Given the description of an element on the screen output the (x, y) to click on. 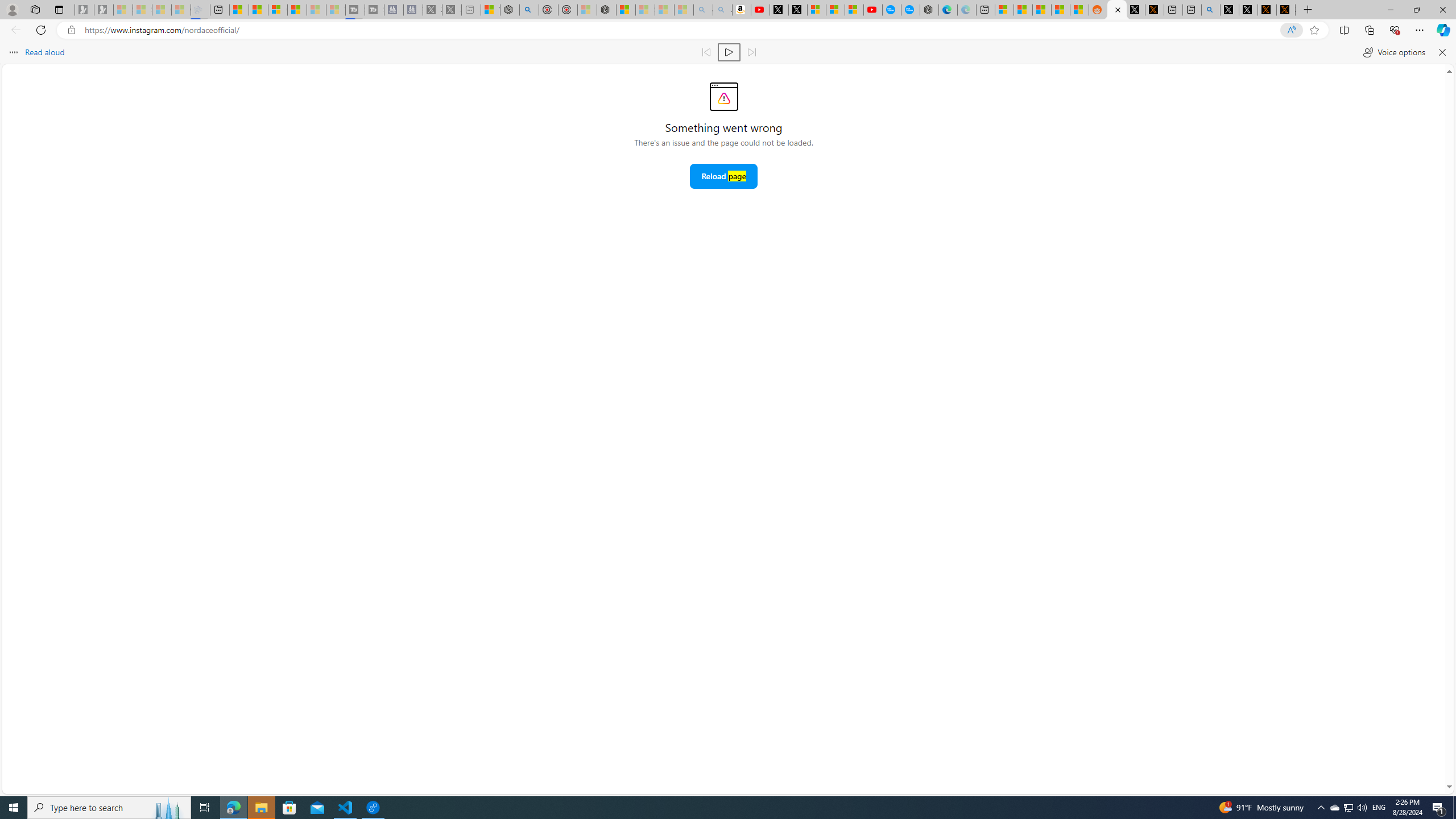
New tab - Sleeping (471, 9)
Microsoft account | Microsoft Account Privacy Settings (1004, 9)
github - Search (1210, 9)
Day 1: Arriving in Yemen (surreal to be here) - YouTube (759, 9)
Continue to read aloud (Ctrl+Shift+U) (729, 52)
Close read aloud (1441, 52)
X - Sleeping (450, 9)
Error (723, 96)
